Given the description of an element on the screen output the (x, y) to click on. 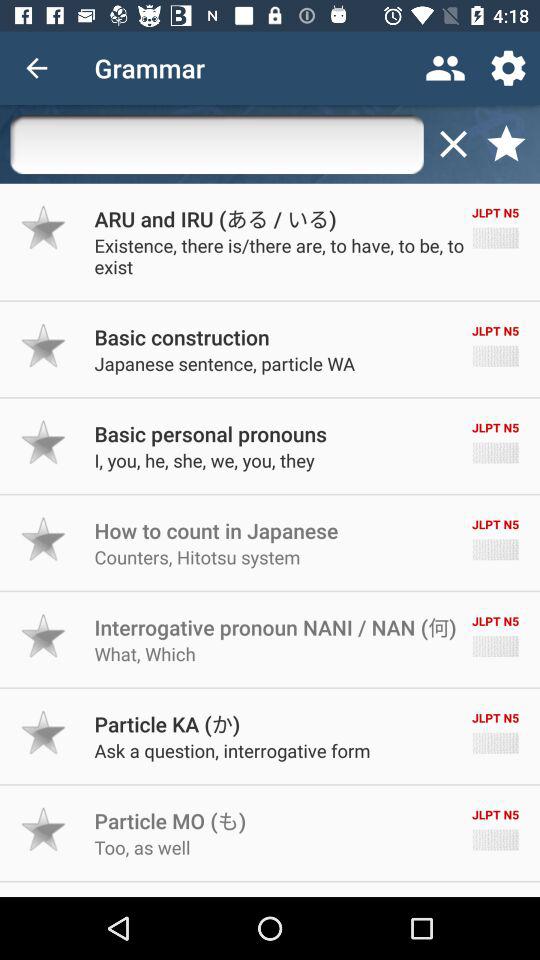
favorite this (44, 636)
